Given the description of an element on the screen output the (x, y) to click on. 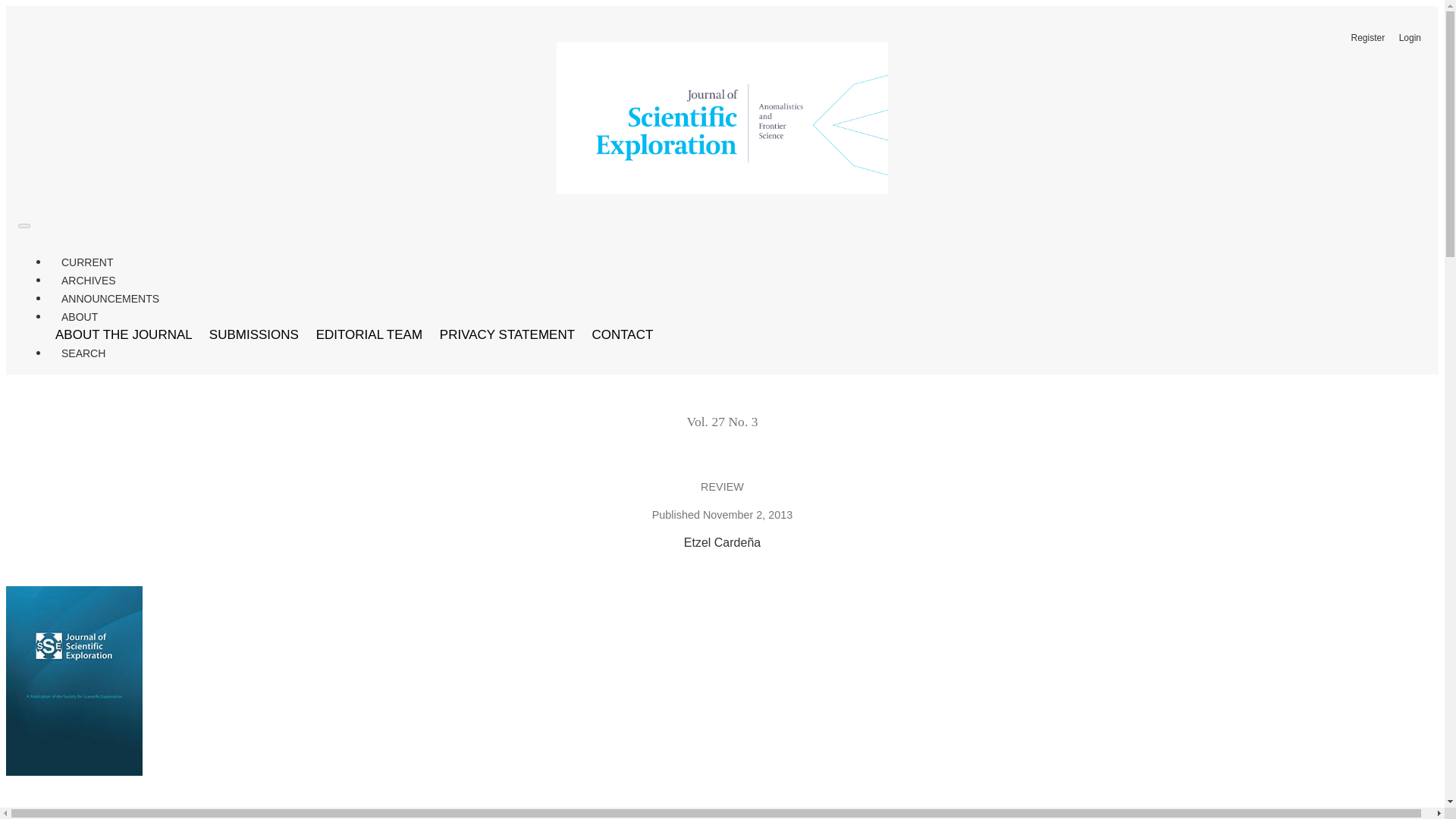
ANNOUNCEMENTS (109, 298)
ABOUT (79, 316)
EDITORIAL TEAM (370, 334)
Login (1409, 37)
ABOUT THE JOURNAL (125, 334)
SUBMISSIONS (255, 334)
Vol. 27 No. 3 (721, 421)
CURRENT (86, 262)
SEARCH (82, 353)
PRIVACY STATEMENT (508, 334)
